Given the description of an element on the screen output the (x, y) to click on. 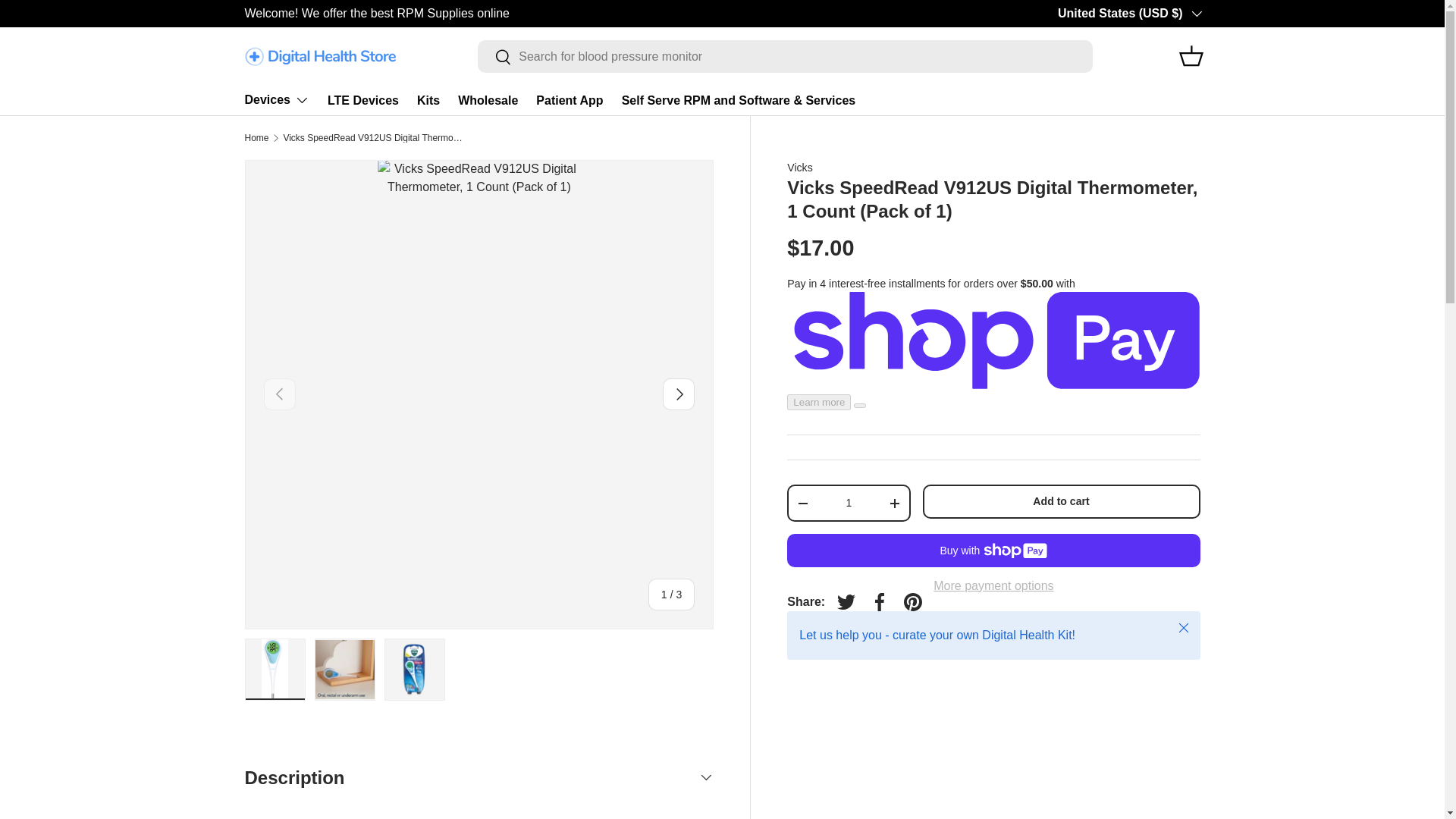
Load image 2 in gallery view (344, 669)
Load image 3 in gallery view (414, 669)
Previous (279, 394)
Share on Facebook (879, 602)
Skip to content (69, 21)
Devices (276, 100)
Load image 1 in gallery view (274, 669)
Search (494, 57)
Tweet on Twitter (846, 602)
LTE Devices (362, 100)
Wholesale (488, 100)
Patient App (568, 100)
1 (847, 502)
Basket (1190, 55)
More payment options (993, 585)
